Given the description of an element on the screen output the (x, y) to click on. 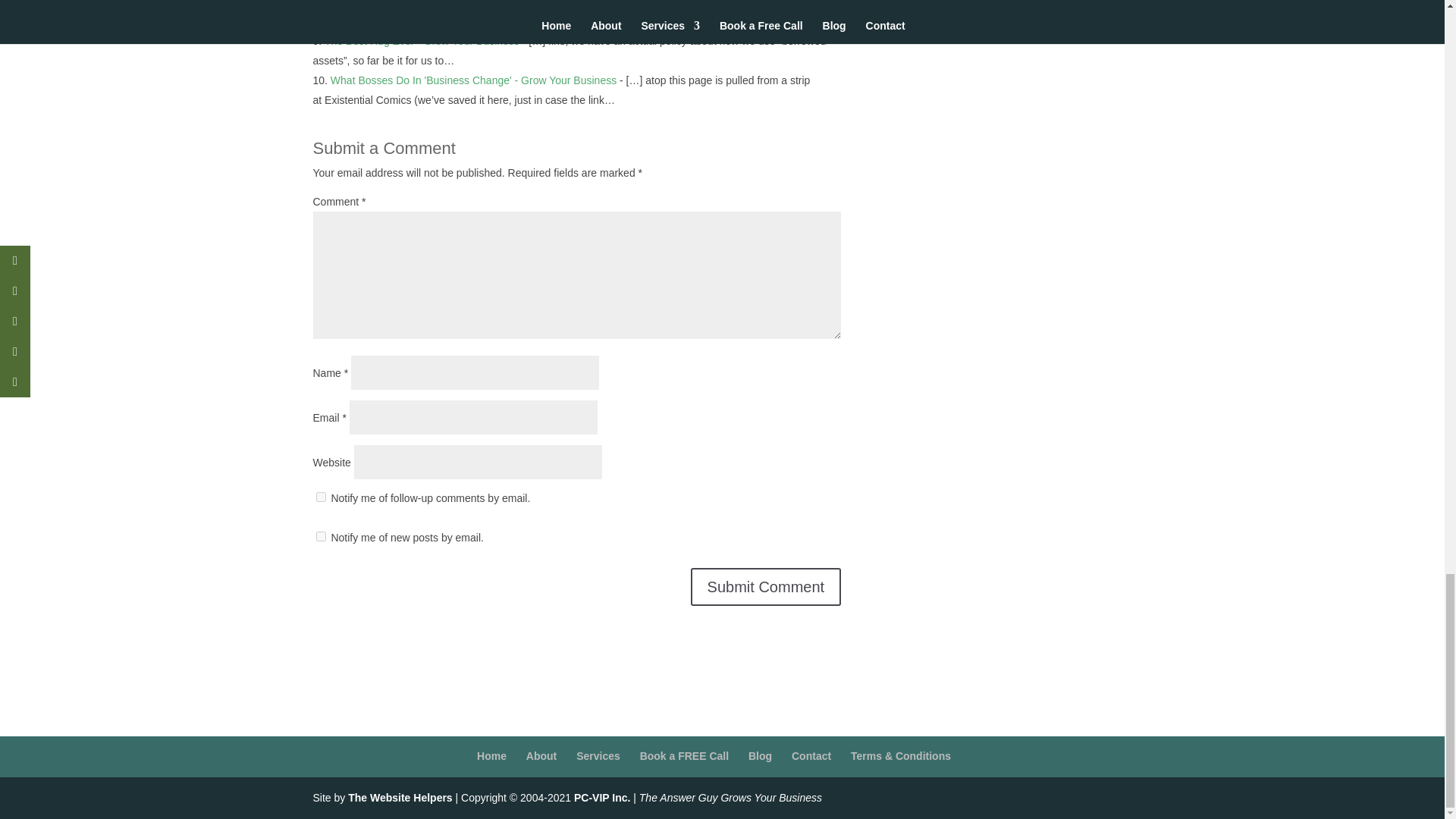
subscribe (319, 497)
Submit Comment (765, 587)
subscribe (319, 536)
